Given the description of an element on the screen output the (x, y) to click on. 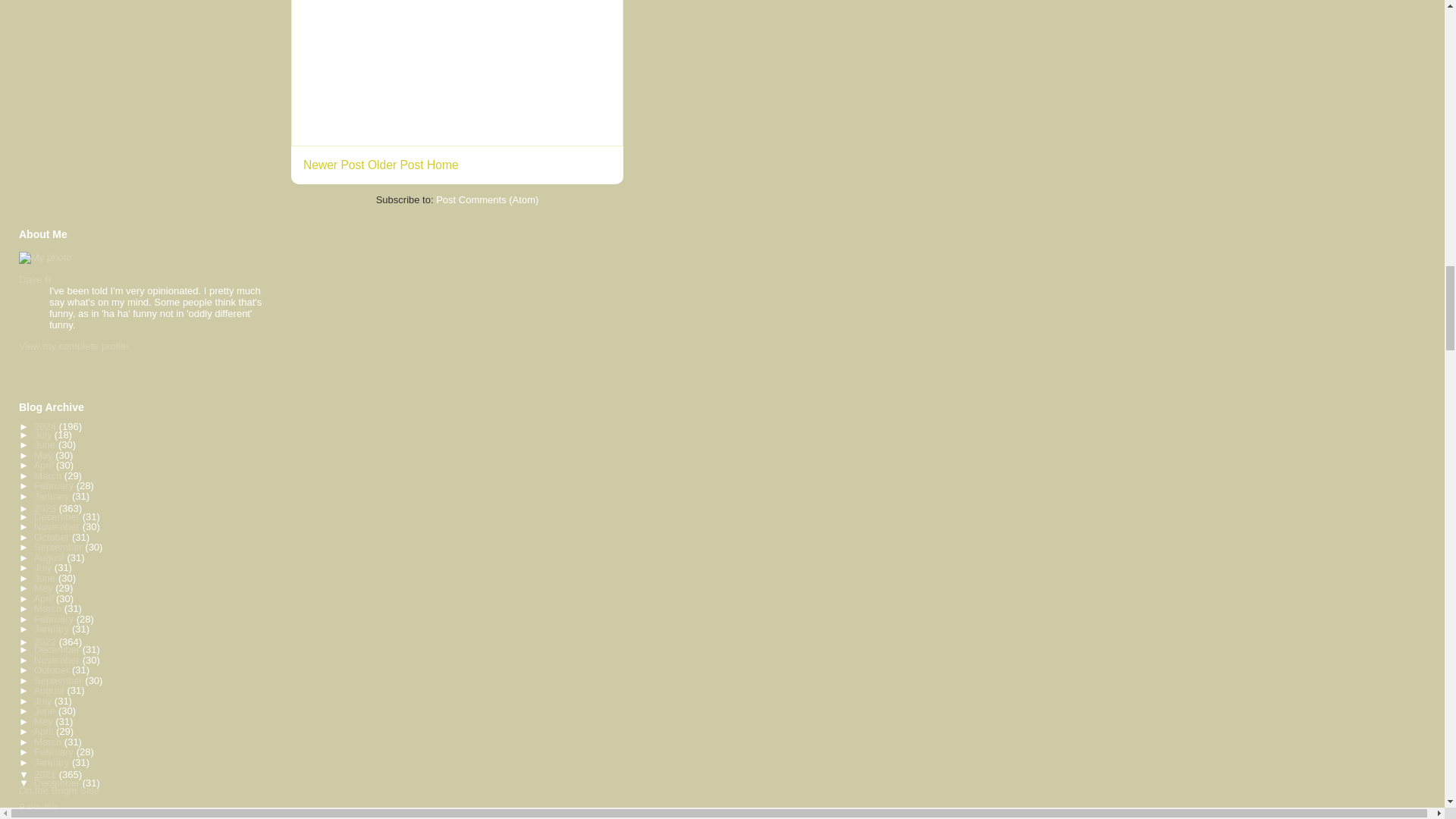
Older Post (395, 164)
Newer Post (333, 164)
